Given the description of an element on the screen output the (x, y) to click on. 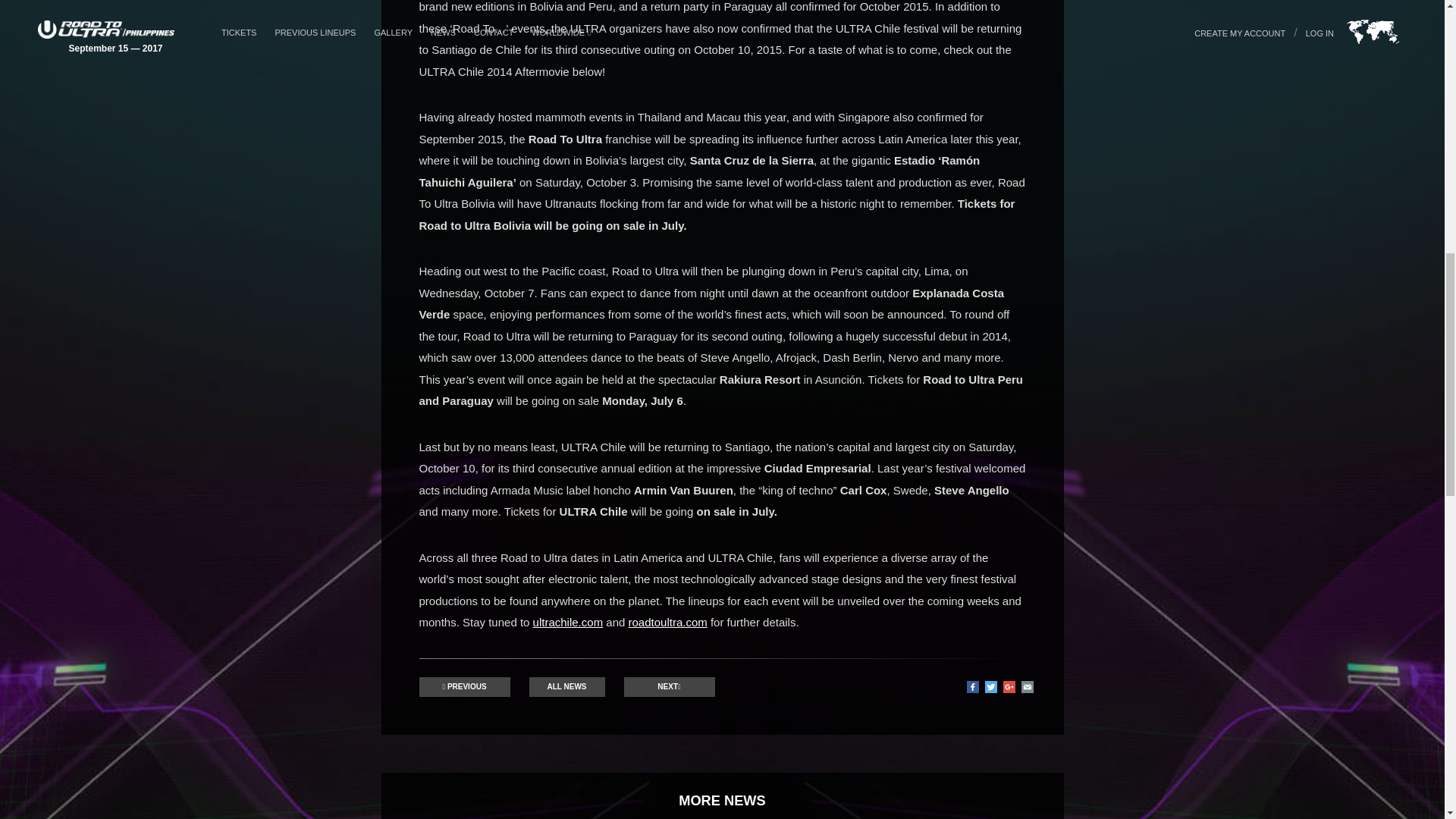
ultrachile.com (568, 621)
roadtoultra.com (667, 621)
PREVIOUS (464, 686)
NEXT (668, 686)
ALL NEWS (567, 686)
